Given the description of an element on the screen output the (x, y) to click on. 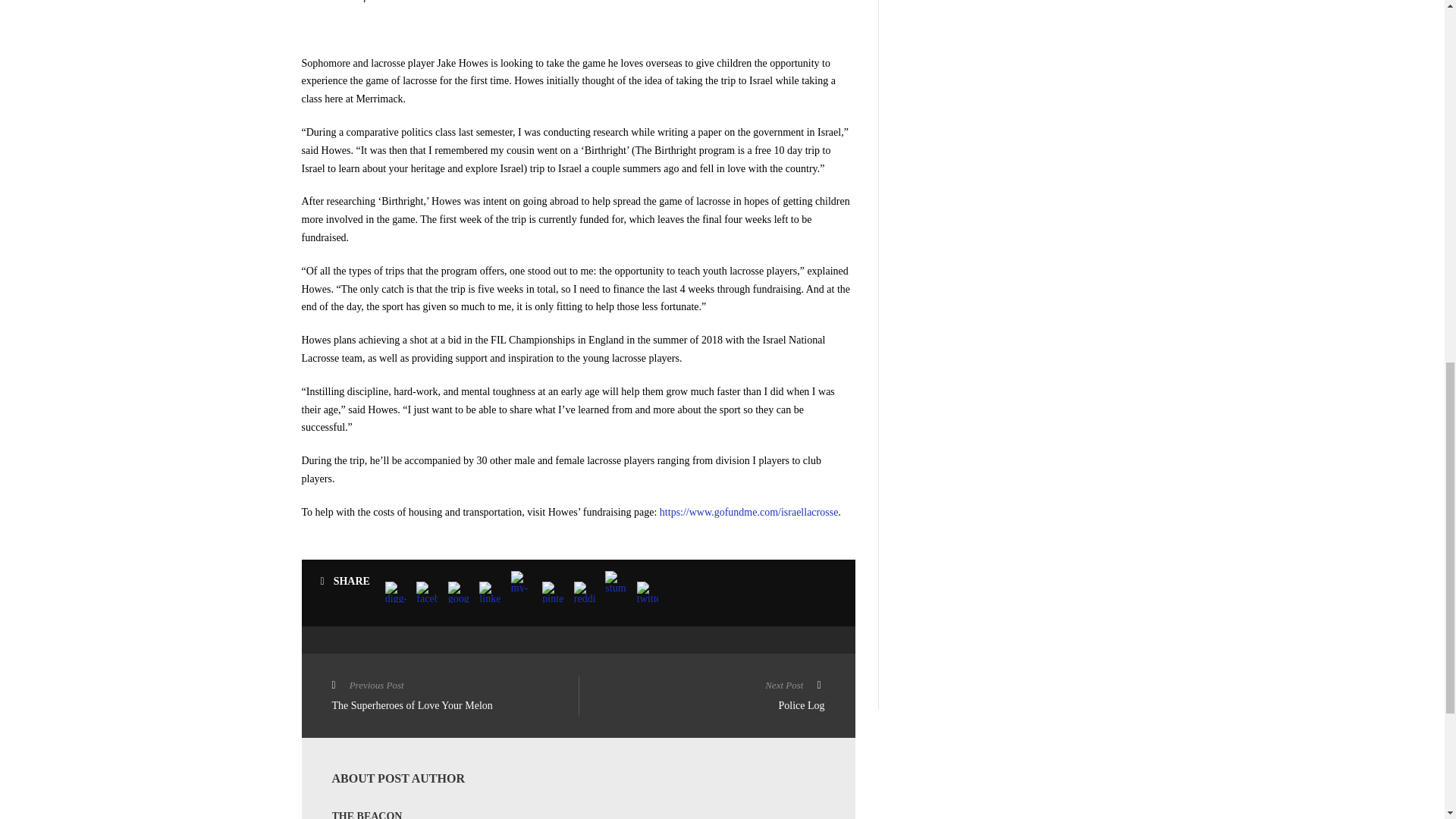
MCTV Monica's Food Review! (701, 697)
Posts by The Beacon (1021, 72)
THE BEACON (367, 814)
